Given the description of an element on the screen output the (x, y) to click on. 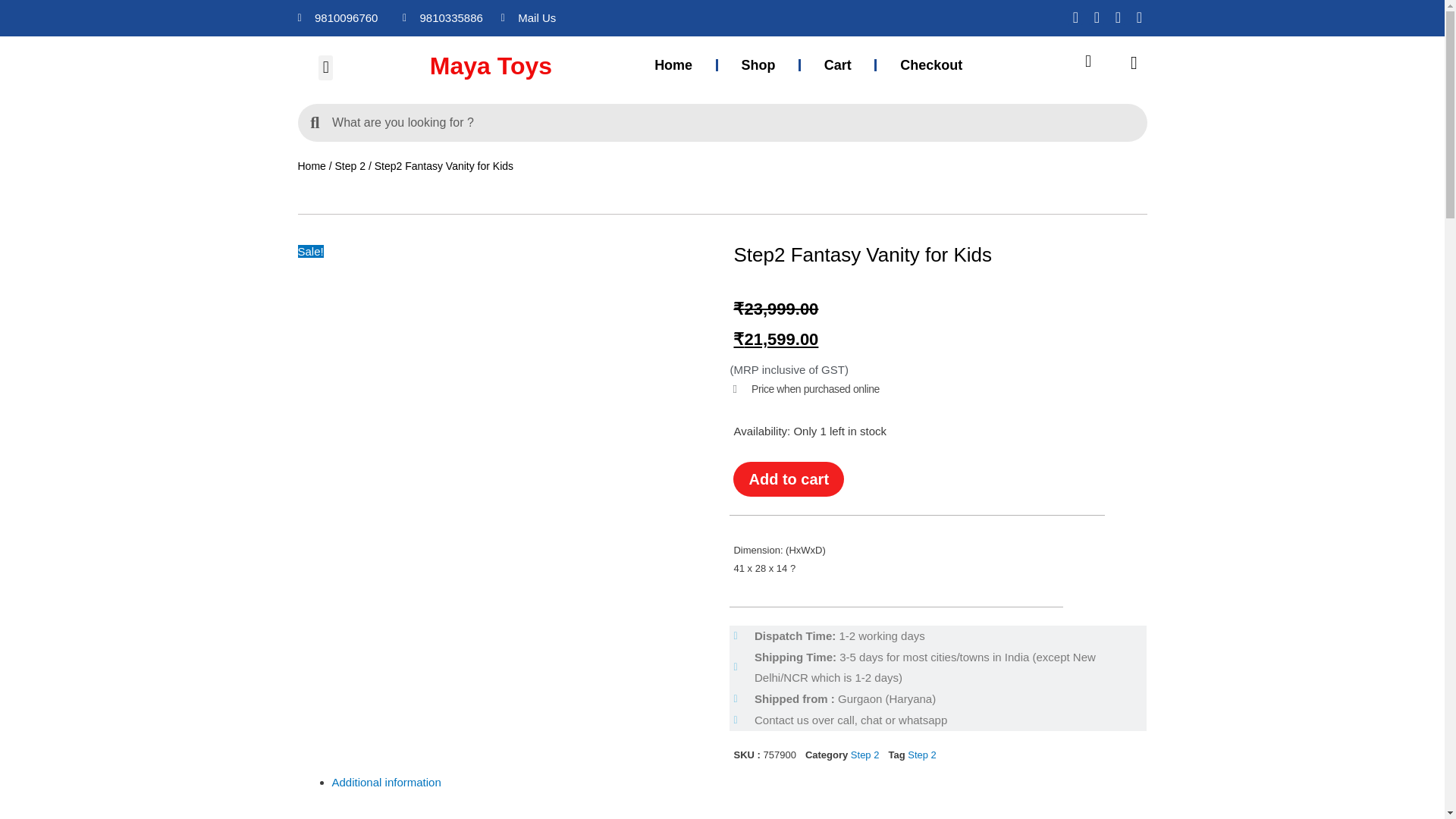
Linkedin (1139, 17)
Instagram (1096, 17)
Maya Toys (522, 66)
Cart (837, 64)
Shop (757, 64)
Twitter (1117, 17)
Checkout (930, 64)
9810335886 (444, 17)
Mail Us (591, 17)
Home (672, 64)
Facebook (1075, 17)
